Given the description of an element on the screen output the (x, y) to click on. 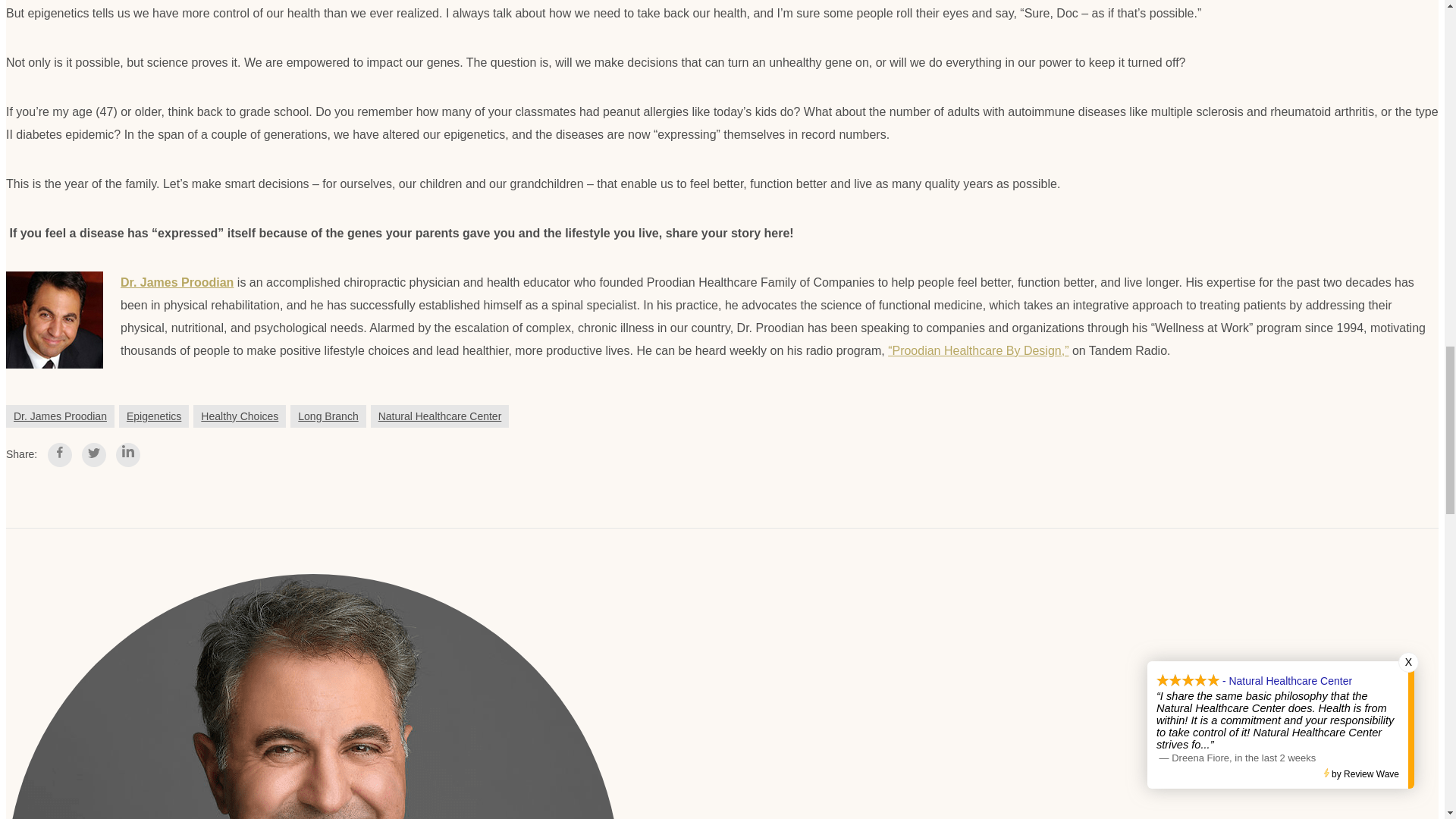
Dr James Proodian  (54, 319)
